Given the description of an element on the screen output the (x, y) to click on. 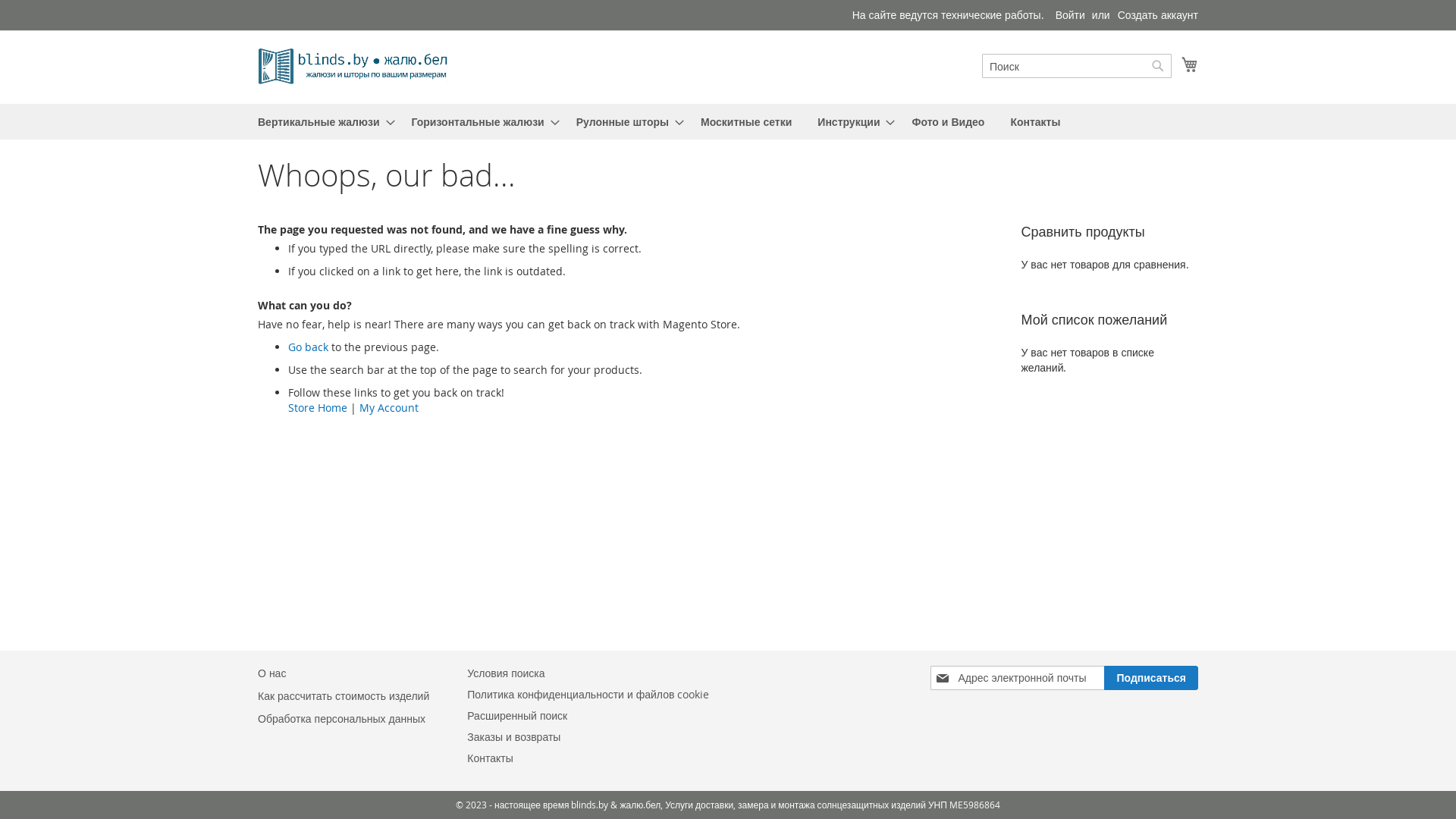
Skip to Content Element type: text (257, 6)
Store Home Element type: text (317, 407)
Go back Element type: text (308, 346)
My Cart Element type: text (1189, 64)
My Account Element type: text (388, 407)
Search Element type: text (1157, 65)
